Given the description of an element on the screen output the (x, y) to click on. 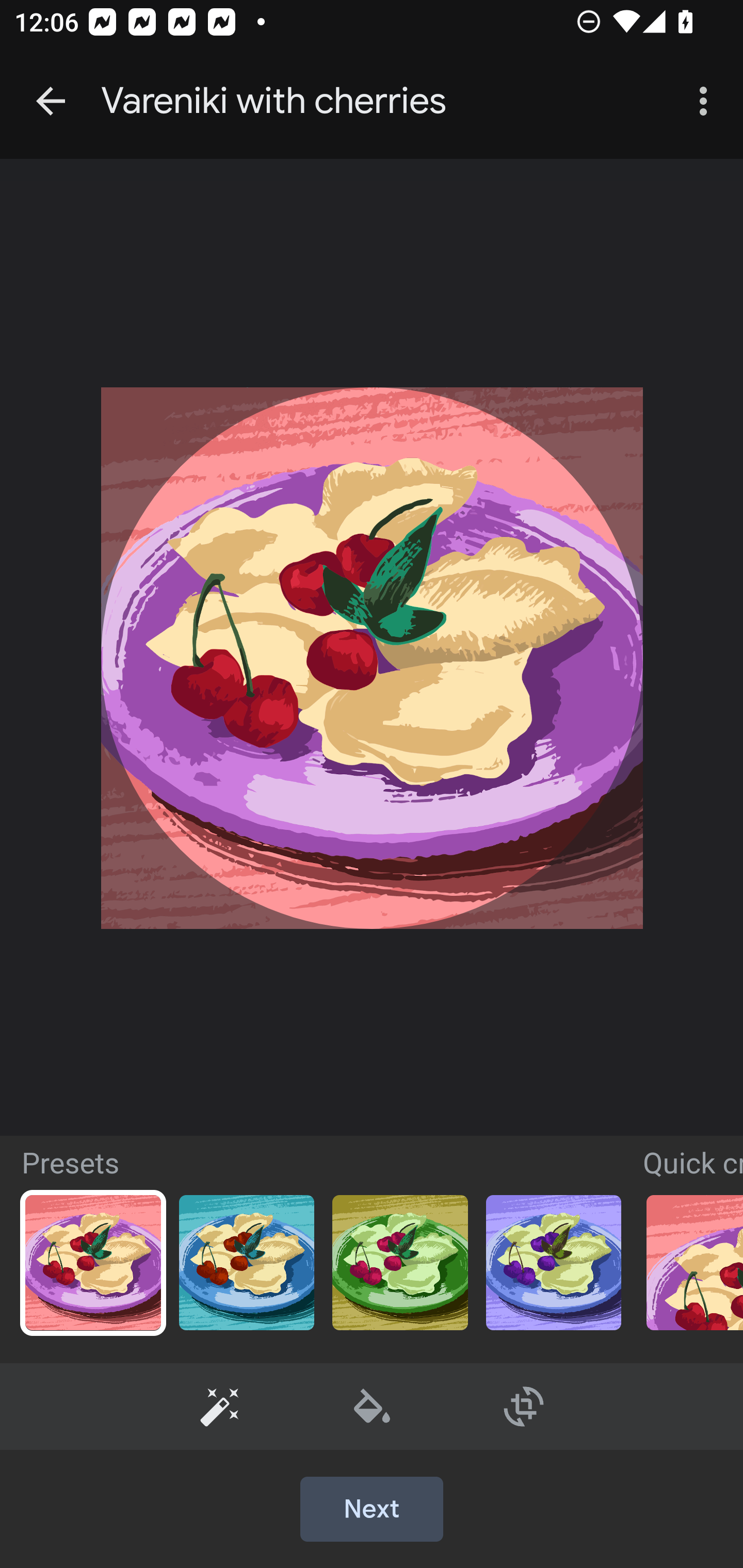
Navigate up (50, 101)
More options (706, 101)
Presets (220, 1406)
Colorize (372, 1406)
Crop (523, 1406)
Next (371, 1509)
